Given the description of an element on the screen output the (x, y) to click on. 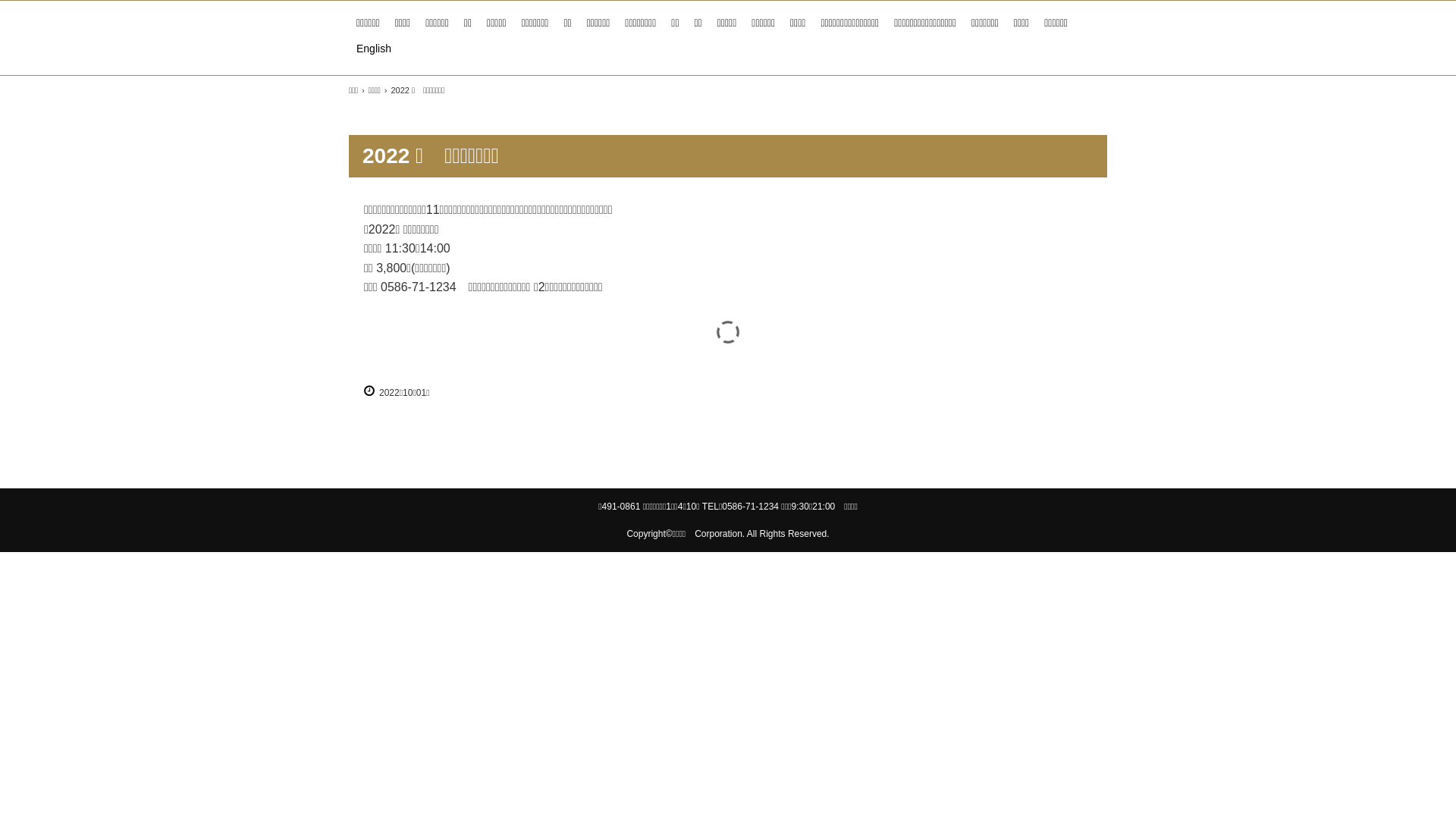
English Element type: text (373, 48)
